Given the description of an element on the screen output the (x, y) to click on. 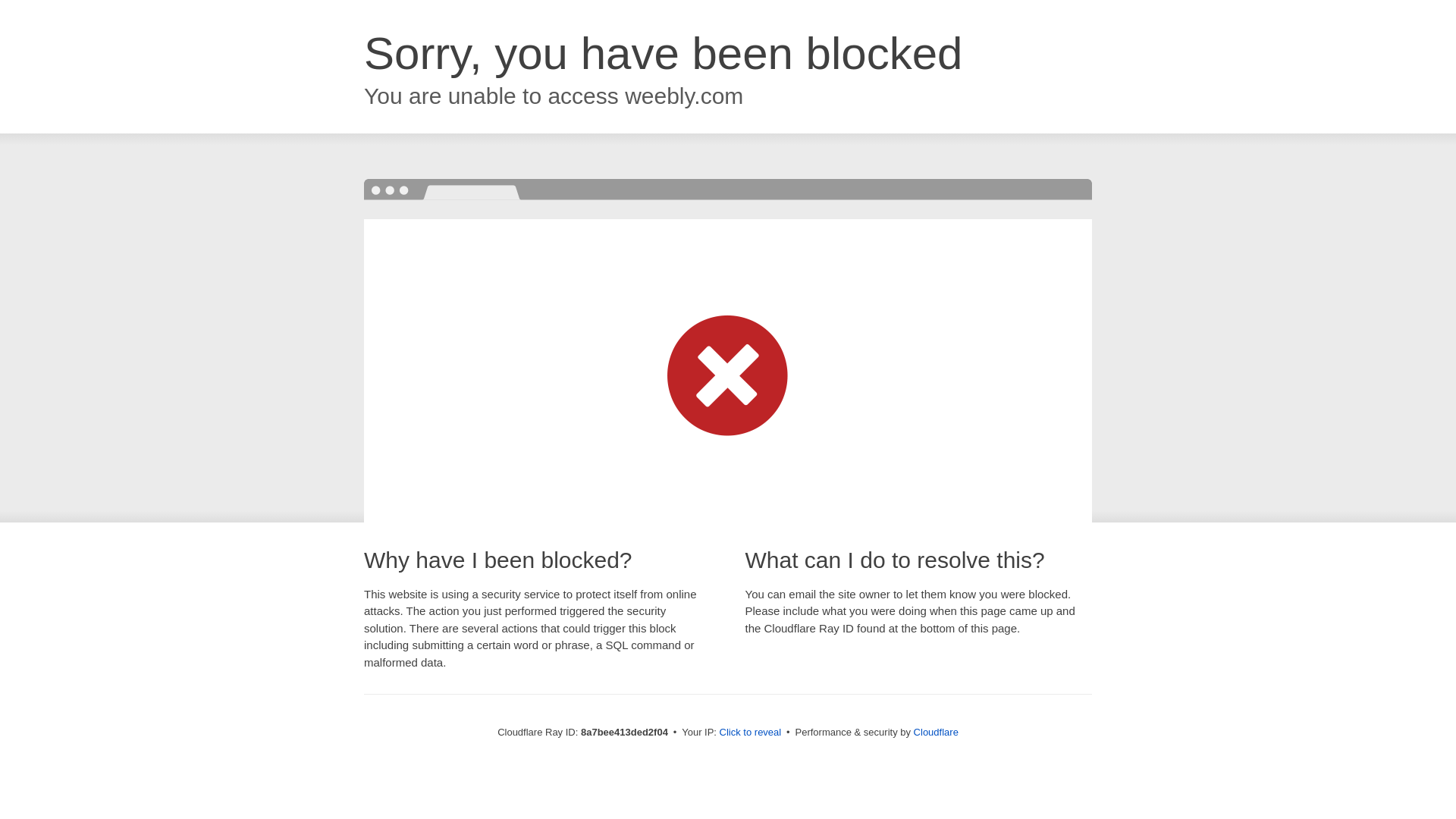
Cloudflare (936, 731)
Click to reveal (750, 732)
